Given the description of an element on the screen output the (x, y) to click on. 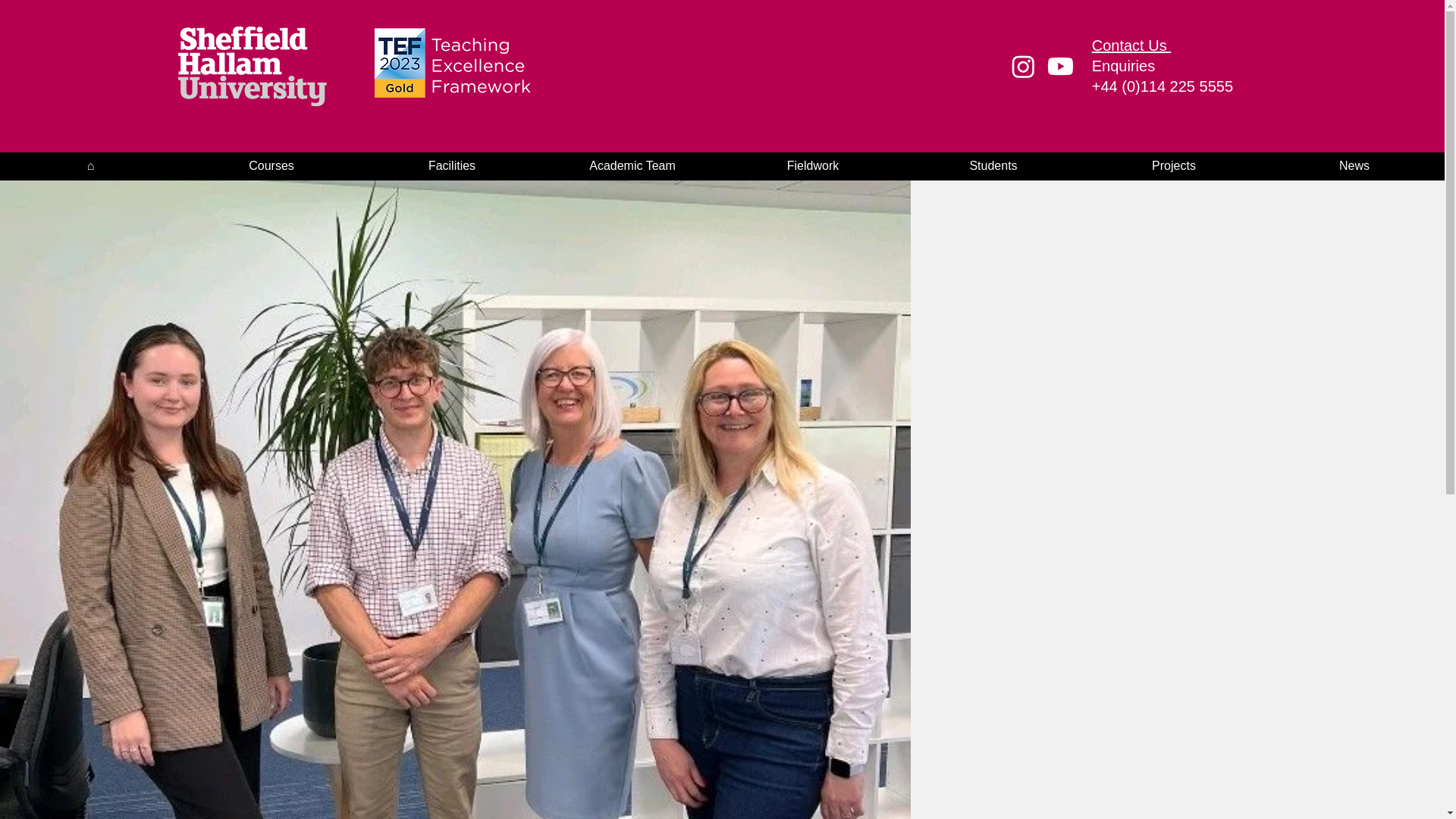
Contact Us  (1131, 45)
Students (992, 165)
Facilities (451, 165)
Projects (1173, 165)
Academic Team (631, 165)
Courses (270, 165)
Fieldwork (812, 165)
